Given the description of an element on the screen output the (x, y) to click on. 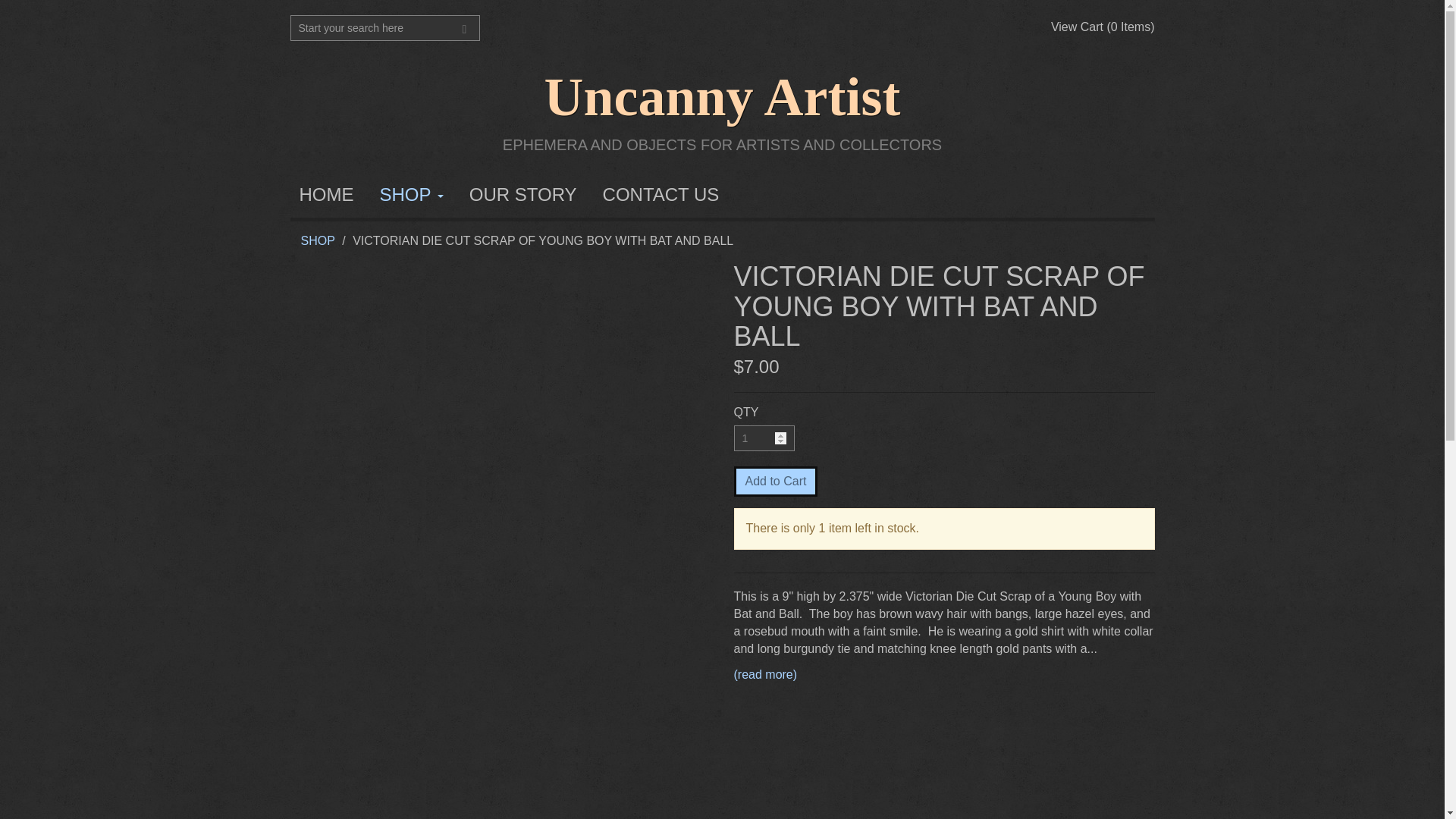
SHOP (410, 194)
HOME (325, 194)
OUR STORY (523, 194)
1 (763, 438)
Uncanny Artist (721, 96)
Add to Cart (775, 481)
